Given the description of an element on the screen output the (x, y) to click on. 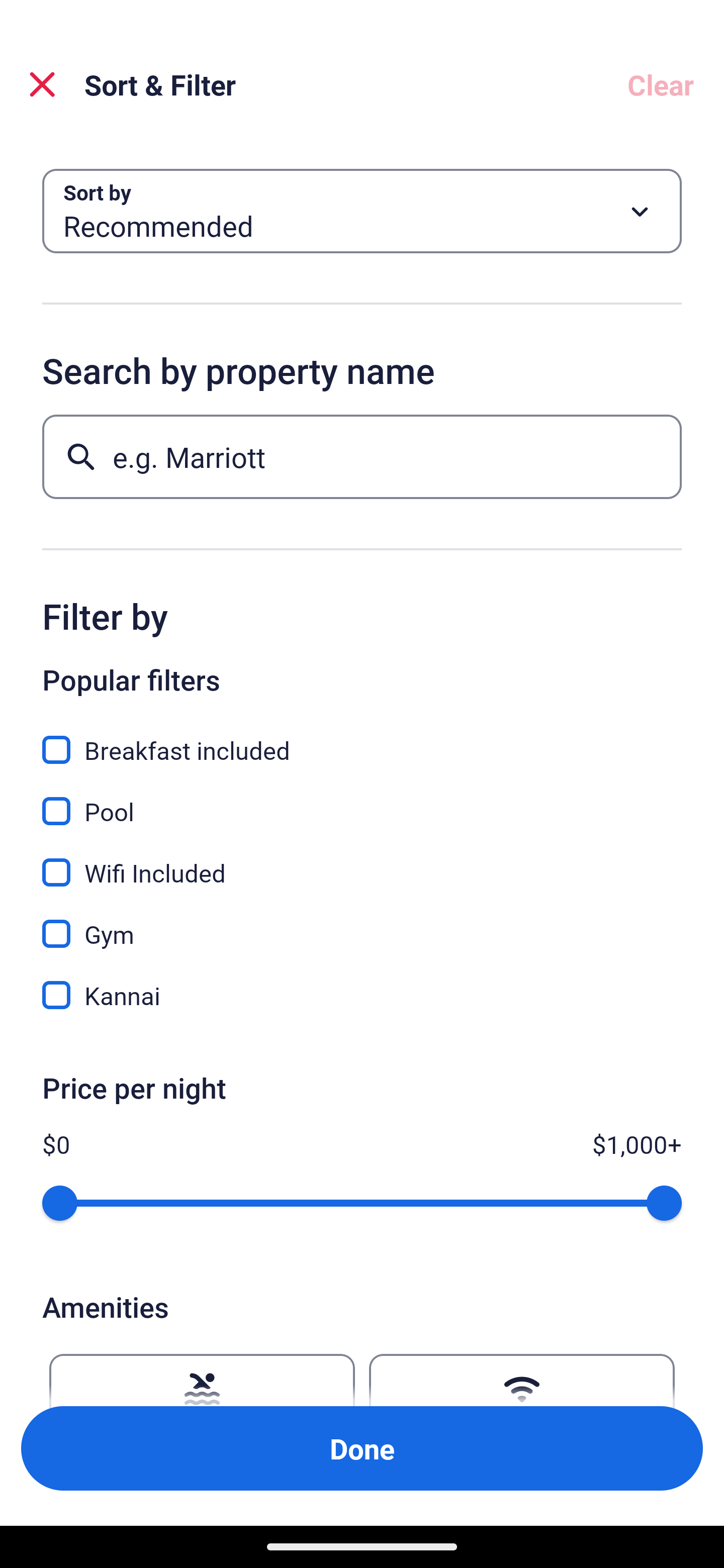
Close Sort and Filter (42, 84)
Clear (660, 84)
Sort by Button Recommended (361, 211)
e.g. Marriott Button (361, 455)
Breakfast included, Breakfast included (361, 738)
Pool, Pool (361, 800)
Wifi Included, Wifi Included (361, 861)
Gym, Gym (361, 922)
Kannai, Kannai (361, 995)
Apply and close Sort and Filter Done (361, 1448)
